Given the description of an element on the screen output the (x, y) to click on. 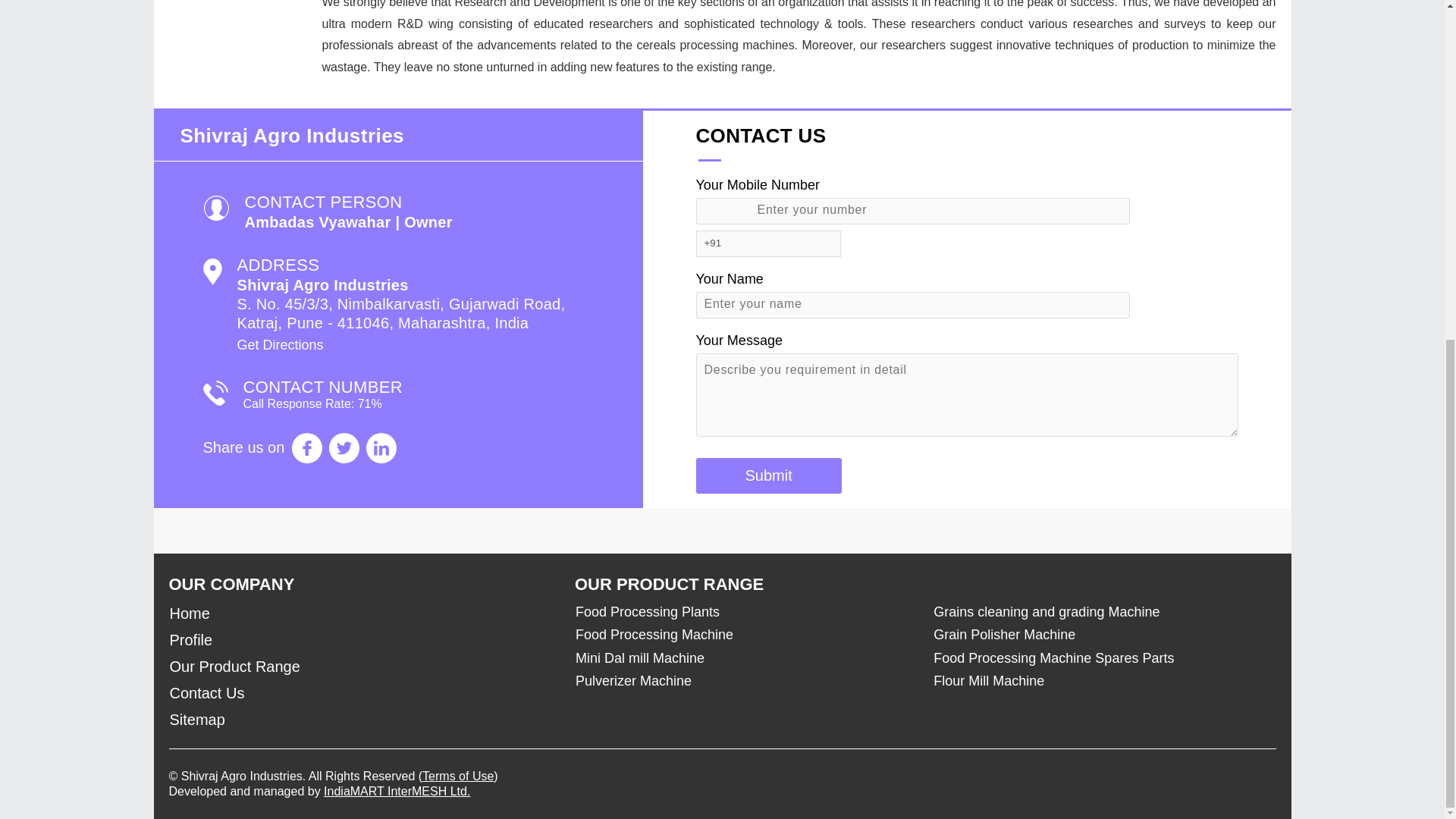
Get Directions (279, 344)
Submit (768, 475)
OUR PRODUCT RANGE (668, 583)
Submit (768, 475)
Contact Us (363, 693)
Food Processing Plants (738, 611)
Food Processing Machine (738, 634)
Our Product Range (363, 666)
Profile (363, 640)
Home (363, 613)
Sitemap (363, 719)
